Given the description of an element on the screen output the (x, y) to click on. 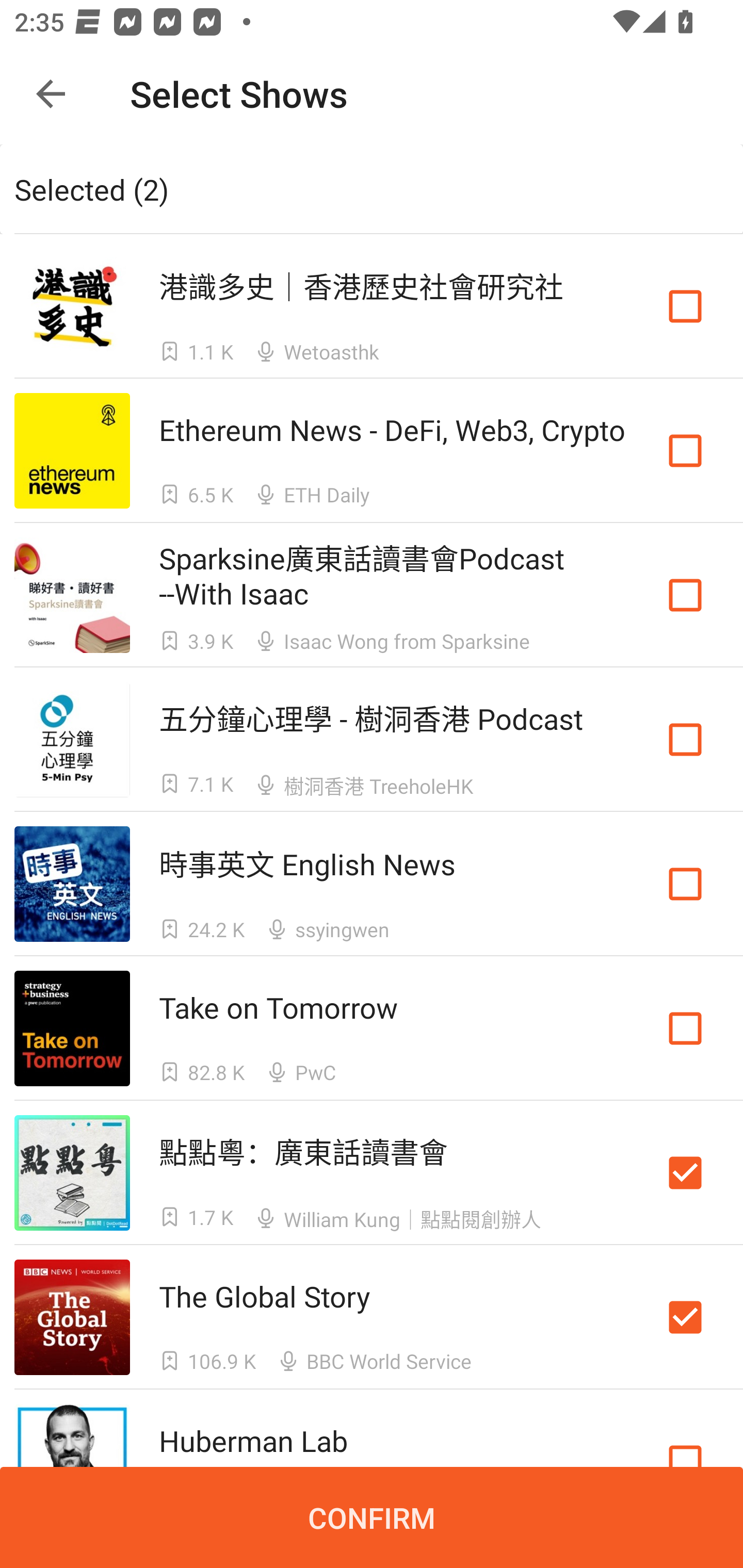
Navigate up (50, 93)
港識多史｜香港歷史社會研究社 港識多史｜香港歷史社會研究社  1.1 K  Wetoasthk (371, 305)
Take on Tomorrow Take on Tomorrow  82.8 K  PwC (371, 1028)
CONFIRM (371, 1517)
